Given the description of an element on the screen output the (x, y) to click on. 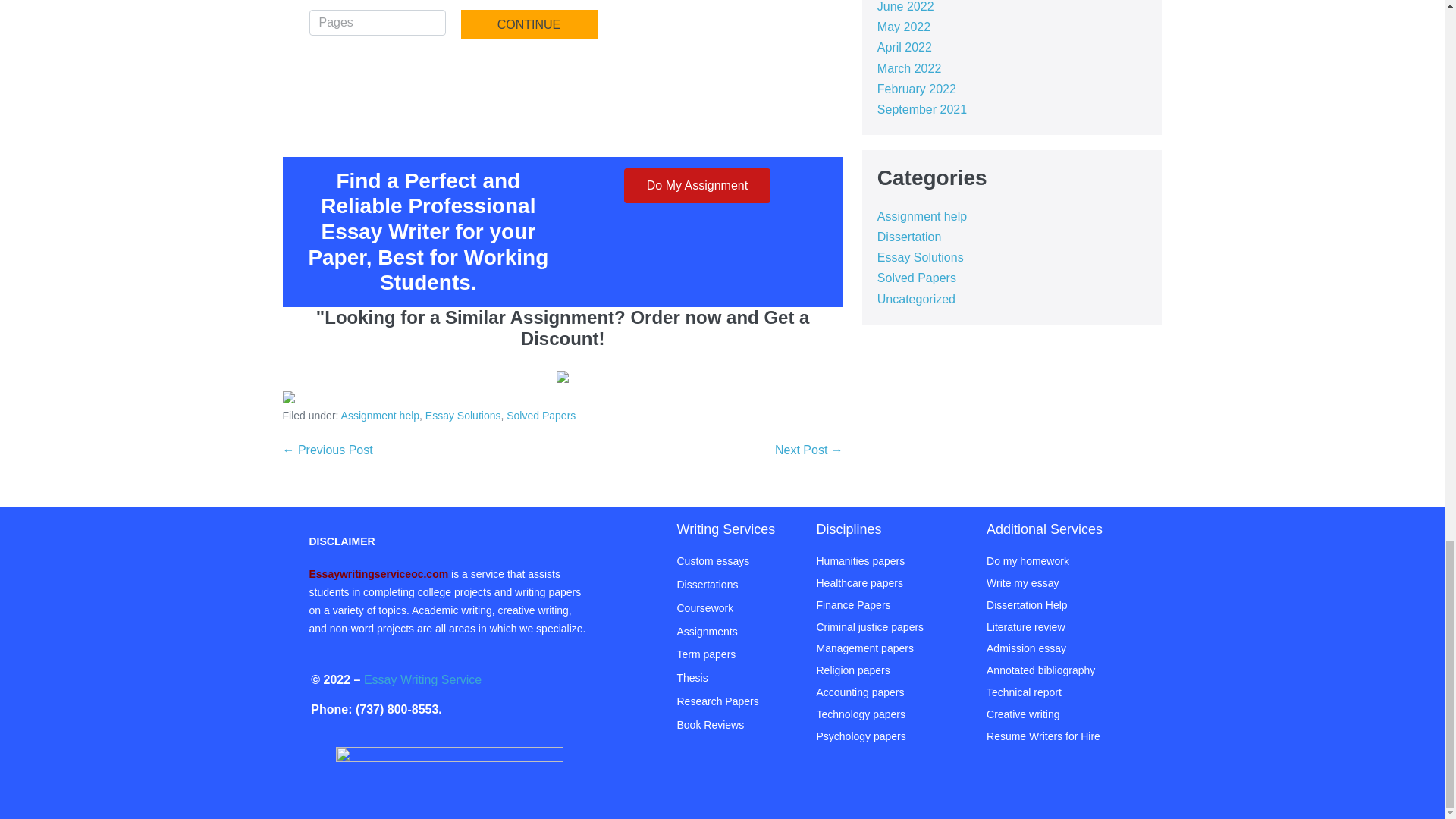
Assignment help (380, 415)
Do My Assignment (697, 185)
Essay Solutions (462, 415)
CONTINUE (528, 24)
Solved Papers (540, 415)
